Given the description of an element on the screen output the (x, y) to click on. 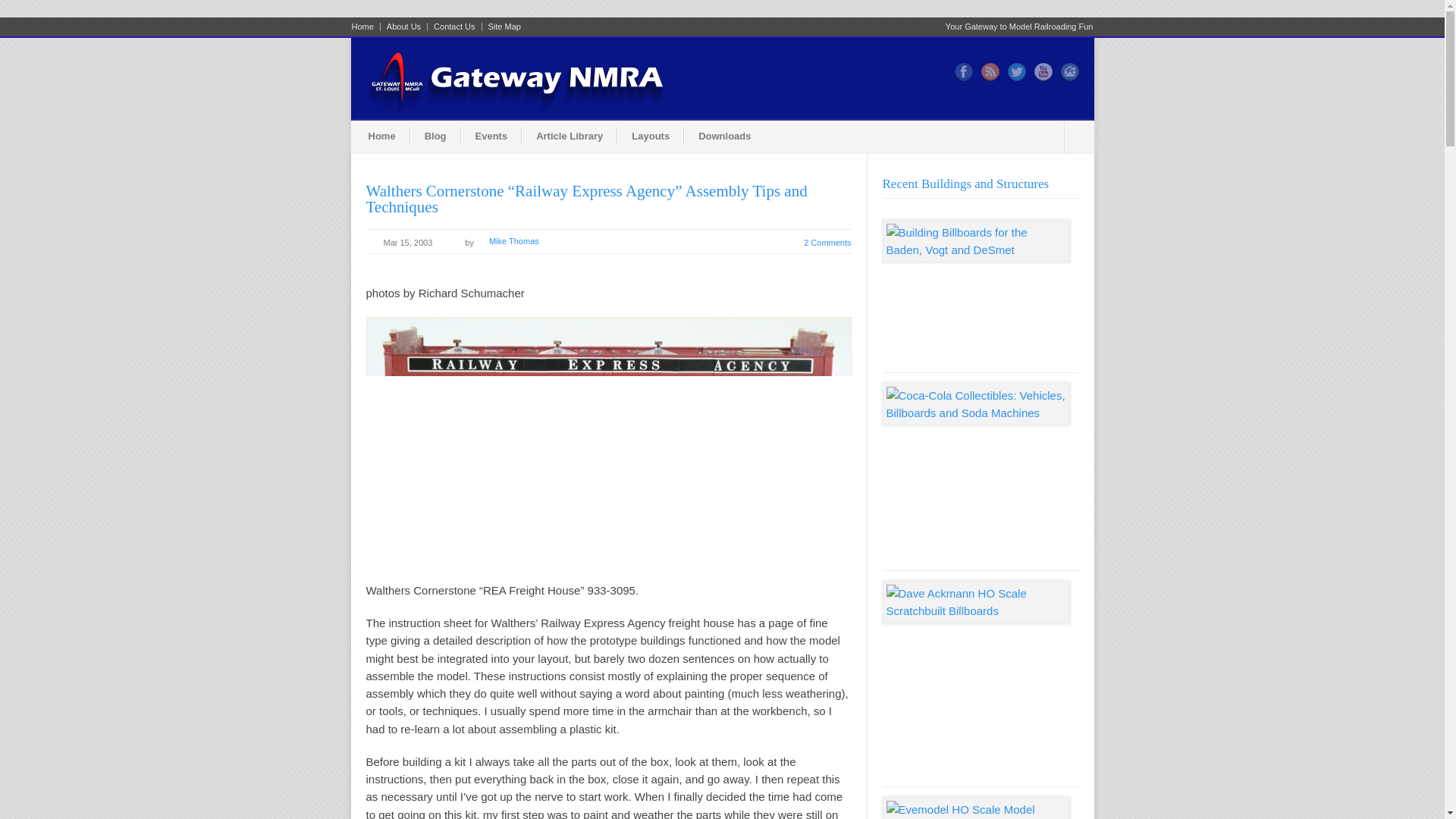
Blog (435, 136)
Events (491, 136)
Site Map (501, 26)
Home (382, 136)
Contact Us (454, 26)
Home (366, 26)
Article Library (569, 136)
About Us (404, 26)
Walthers Cornerstone "REA Freight House" 933-3095 (607, 448)
Posts by Mike Thomas (513, 240)
